Given the description of an element on the screen output the (x, y) to click on. 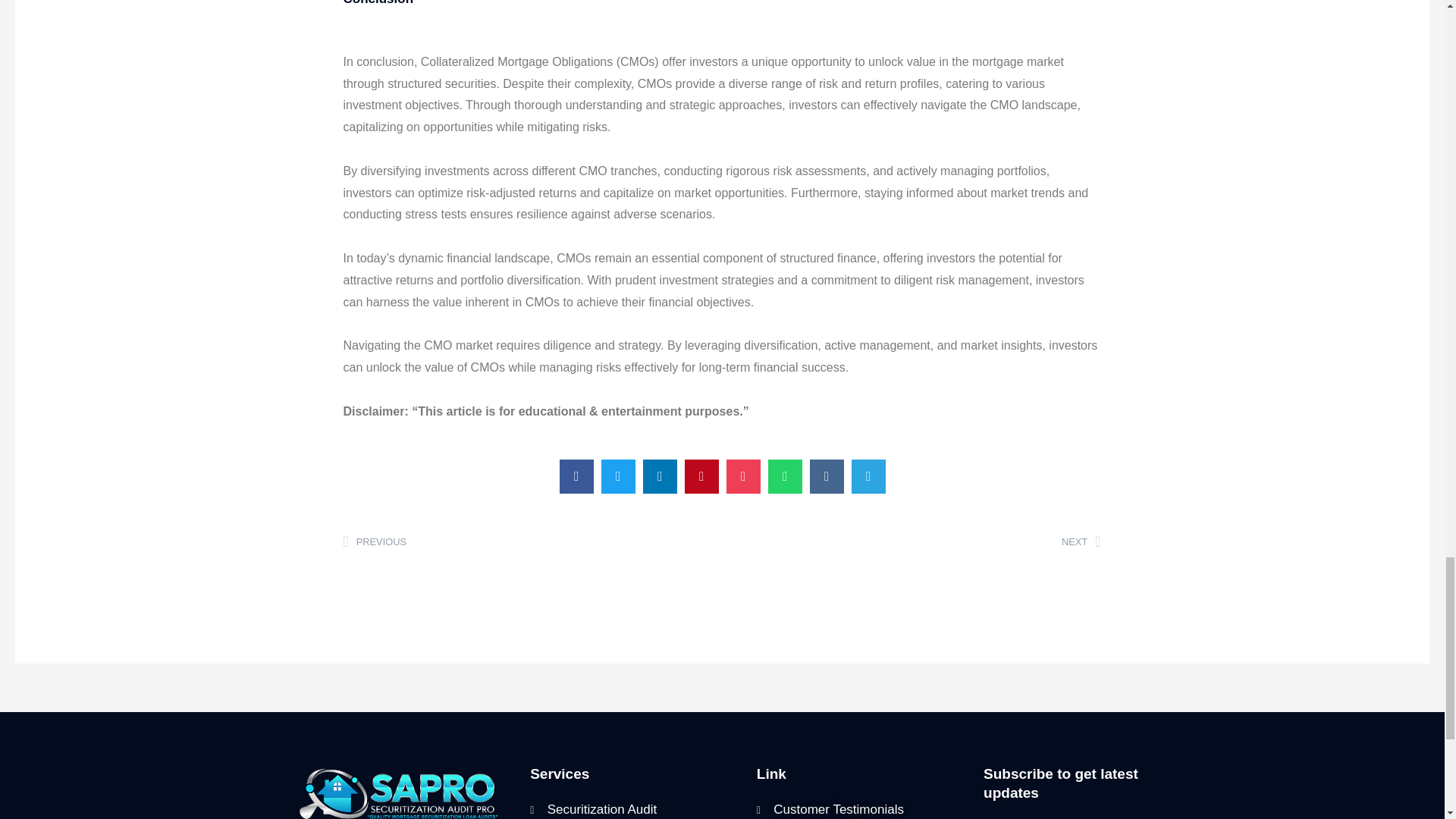
Customer Testimonials (862, 809)
Securitization Audit (911, 542)
